Given the description of an element on the screen output the (x, y) to click on. 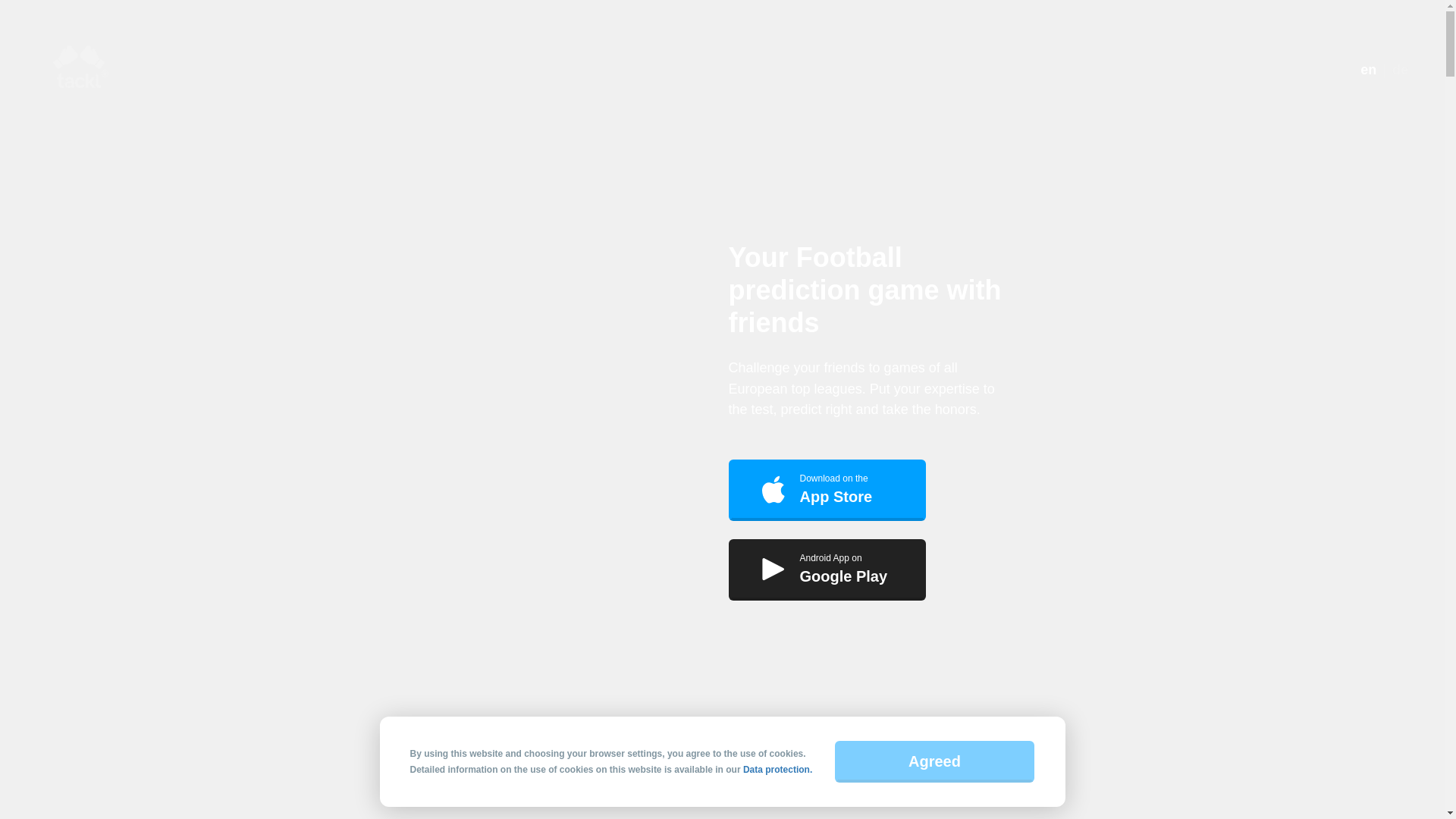
en (1367, 69)
de (826, 489)
